Given the description of an element on the screen output the (x, y) to click on. 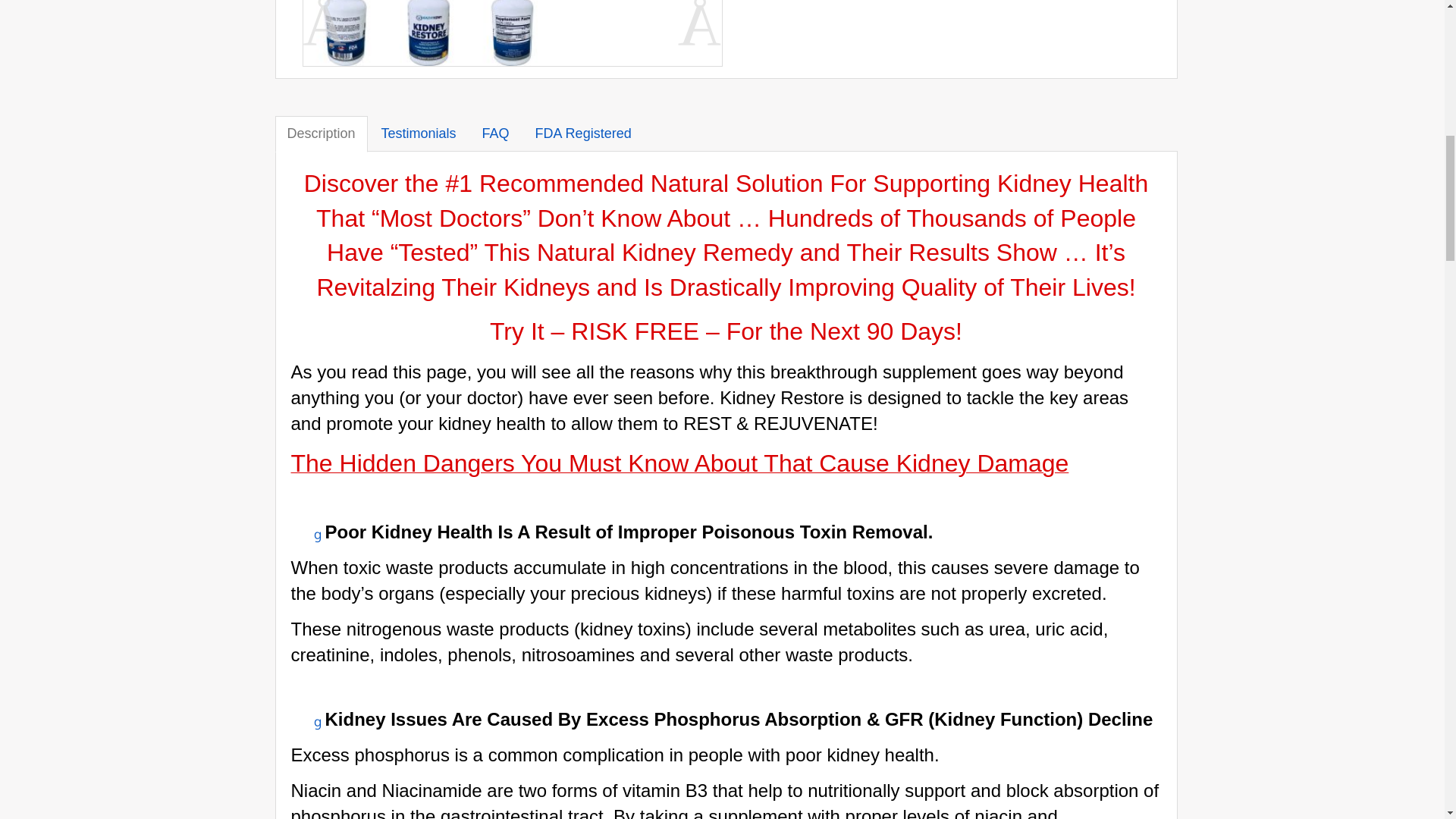
kidney-restore-02c (344, 33)
kidney-restore-05c (595, 2)
FDA Registered (582, 134)
Testimonials (418, 134)
kidney-restore-04c (511, 33)
kidney-restore-06c (678, 2)
kidney-restore-03c (428, 33)
FAQ (495, 134)
Description (320, 134)
